Given the description of an element on the screen output the (x, y) to click on. 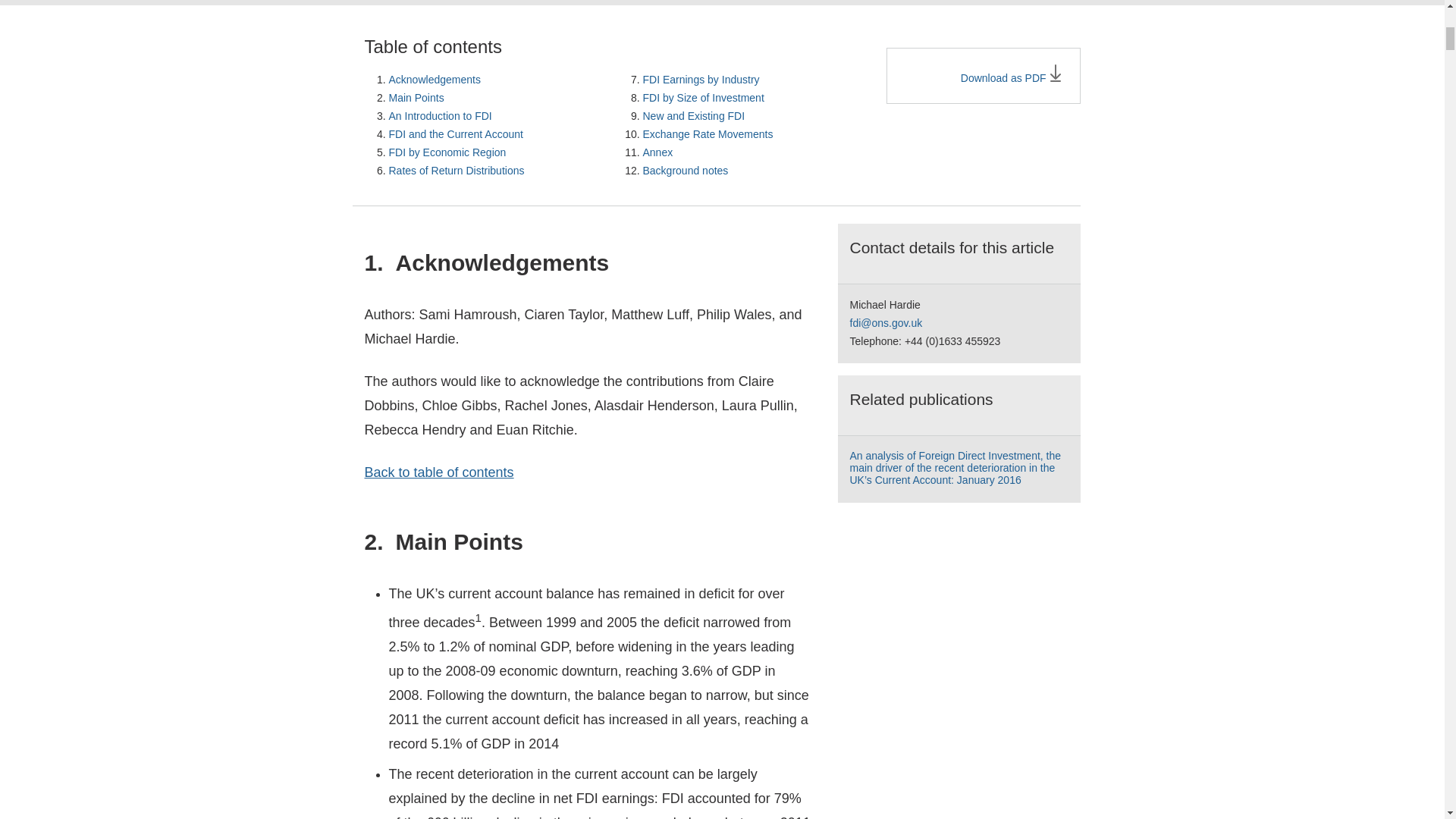
Back to table of contents (438, 472)
Acknowledgements (434, 79)
Background notes (686, 170)
FDI by Economic Region (446, 152)
FDI Earnings by Industry (701, 79)
New and Existing FDI (694, 115)
An Introduction to FDI (440, 115)
FDI and the Current Account (455, 133)
Annex (657, 152)
FDI by Size of Investment (703, 97)
Rates of Return Distributions (456, 170)
Exchange Rate Movements (708, 133)
Main Points (416, 97)
